Given the description of an element on the screen output the (x, y) to click on. 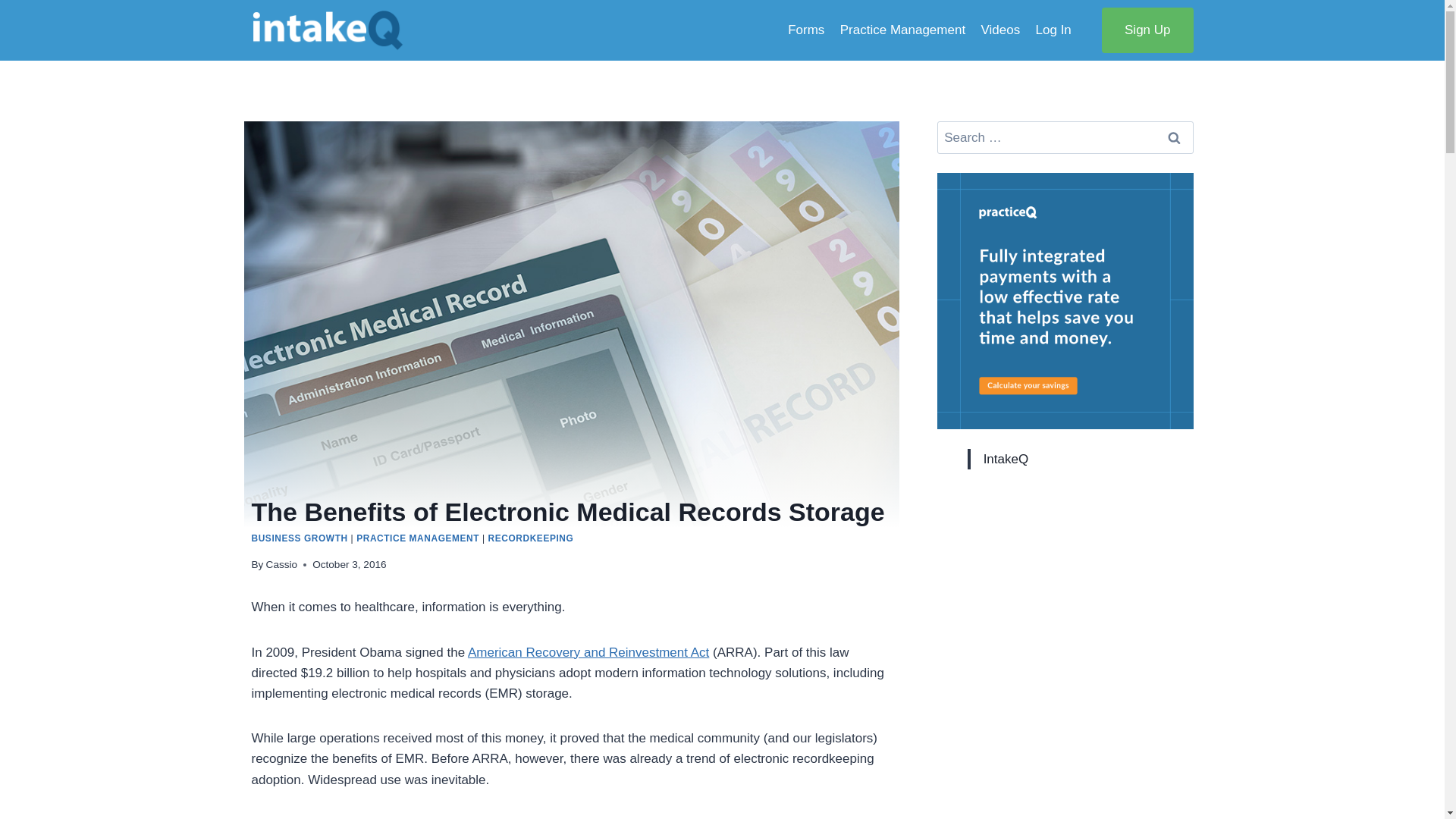
Sign Up (1147, 29)
Forms (806, 30)
RECORDKEEPING (530, 538)
Practice Management (903, 30)
American Recovery and Reinvestment Act (588, 652)
Search (1174, 137)
Search (1174, 137)
Log In (1052, 30)
Videos (999, 30)
BUSINESS GROWTH (299, 538)
